Given the description of an element on the screen output the (x, y) to click on. 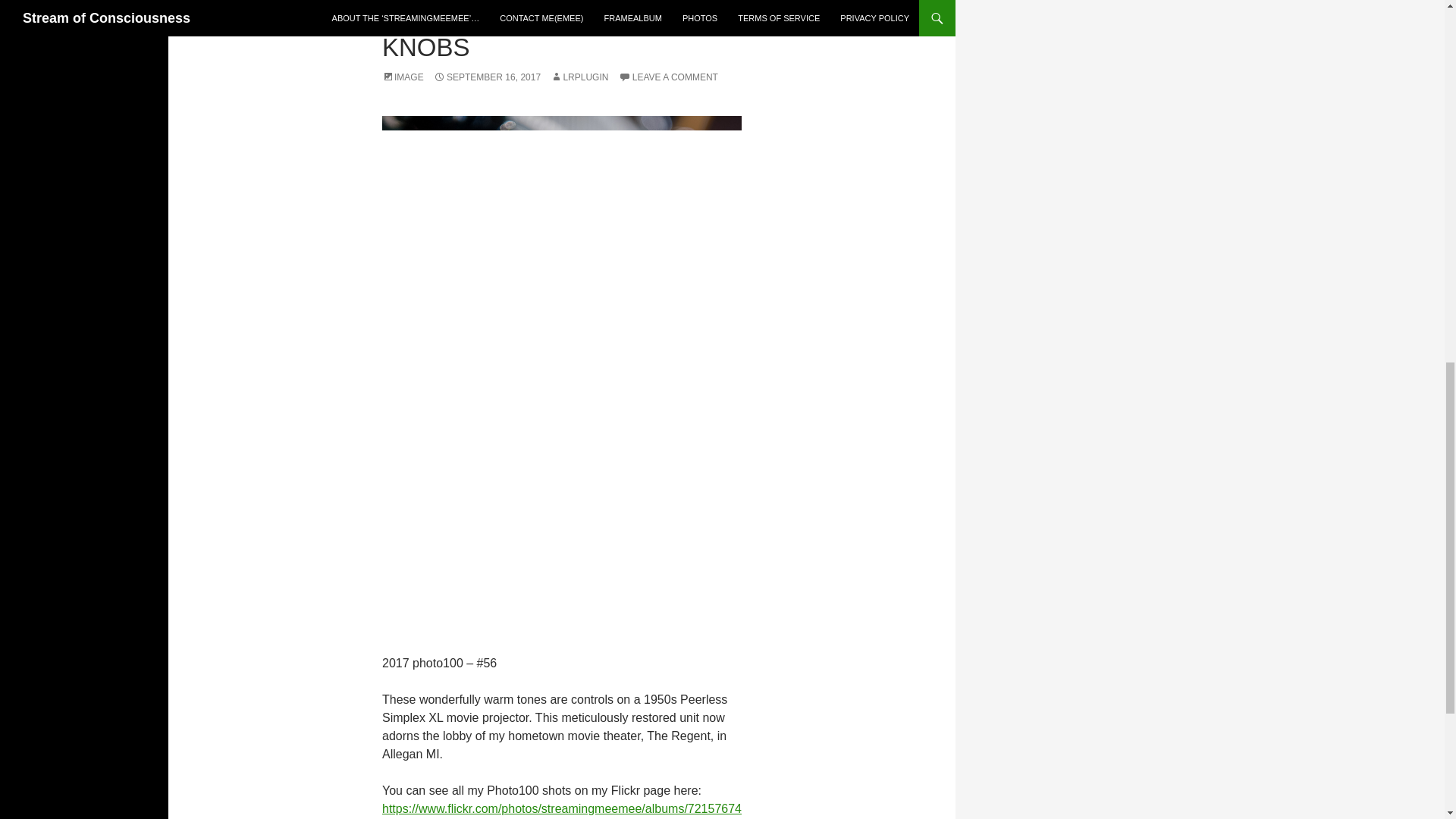
IMAGE (402, 77)
SEPTEMBER 16, 2017 (486, 77)
LRPLUGIN (579, 77)
PHOTO365 (405, 20)
LEAVE A COMMENT (667, 77)
PHOTOS (452, 20)
KNOBS (425, 47)
